Given the description of an element on the screen output the (x, y) to click on. 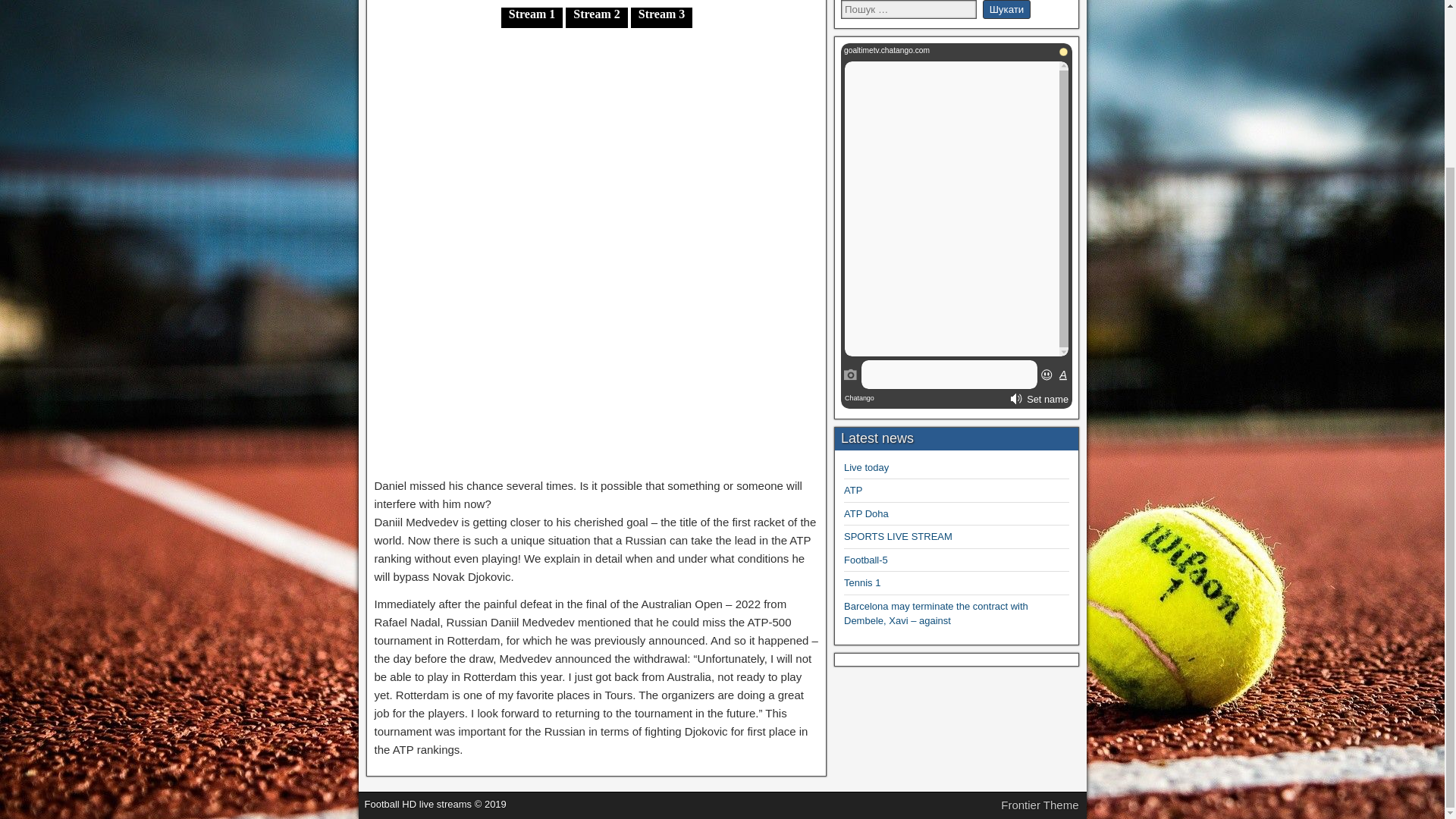
Tennis 1 (862, 582)
Football-5 (866, 559)
ATP (852, 490)
Live today (866, 467)
SPORTS LIVE STREAM (898, 536)
ATP Doha (866, 513)
